Given the description of an element on the screen output the (x, y) to click on. 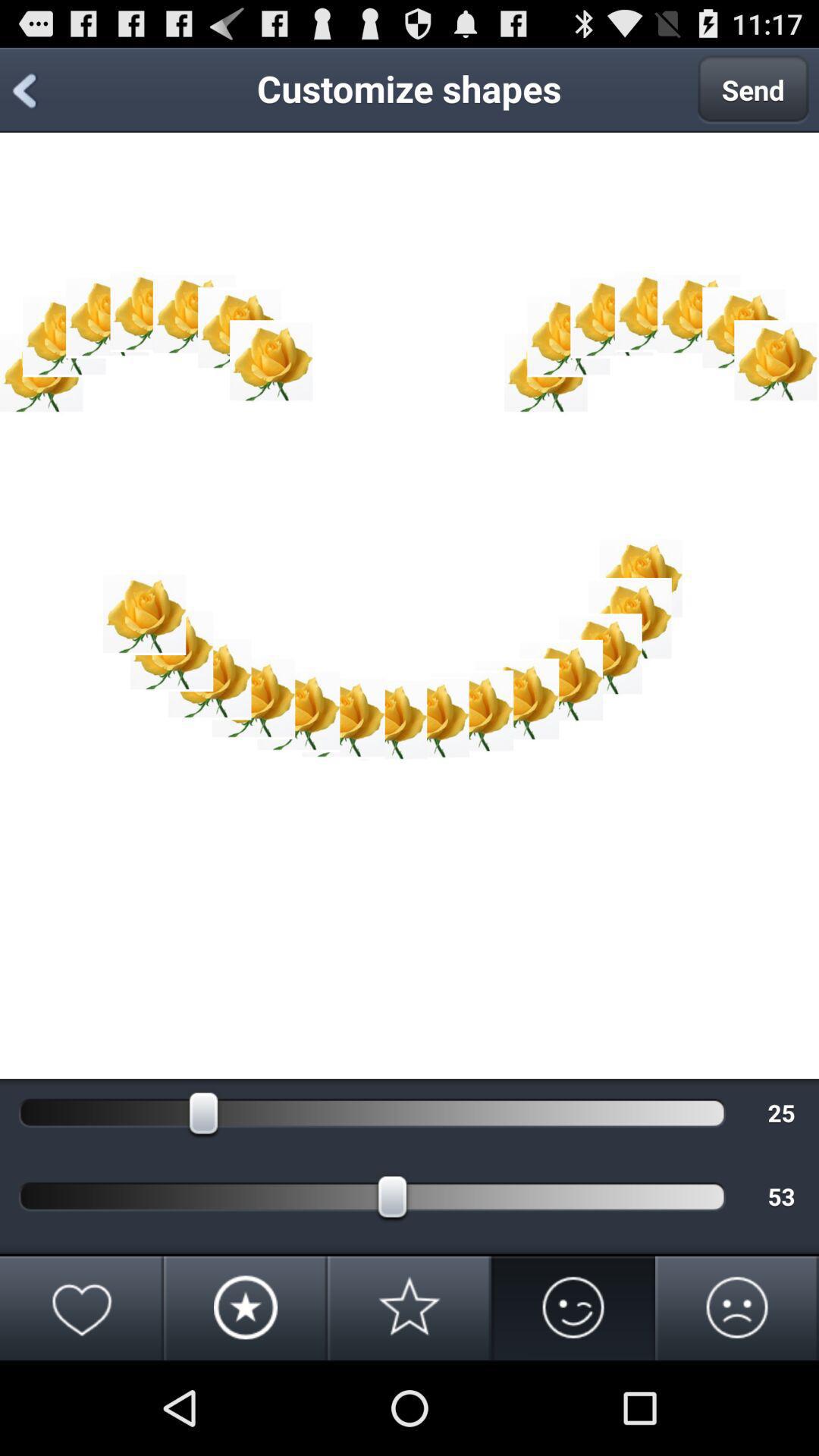
turn off send at the top right corner (752, 90)
